Given the description of an element on the screen output the (x, y) to click on. 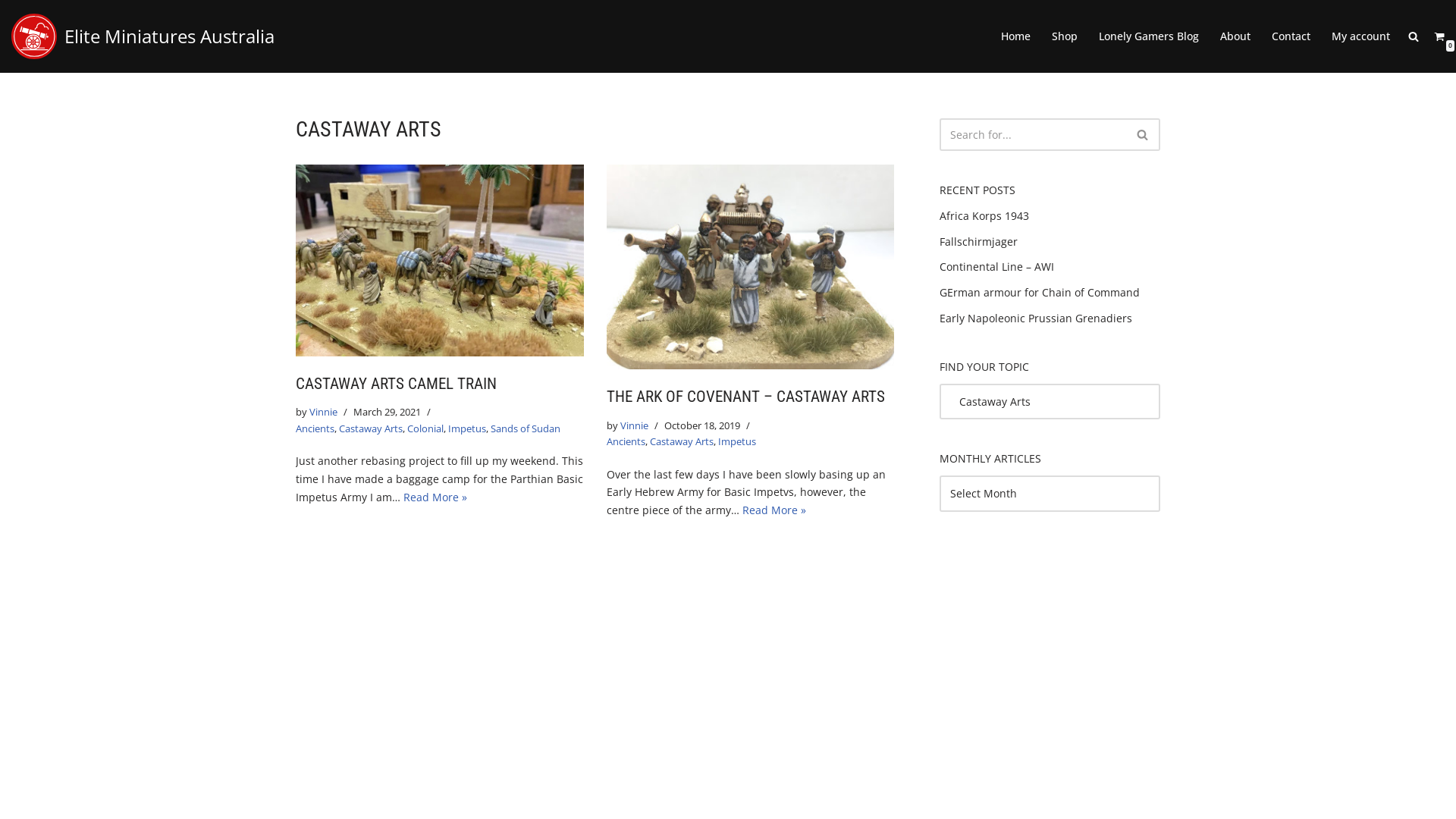
Early Napoleonic Prussian Grenadiers Element type: text (1035, 317)
Impetus Element type: text (736, 441)
Castaway Arts Camel Train Element type: hover (439, 260)
CASTAWAY ARTS CAMEL TRAIN Element type: text (395, 383)
Sands of Sudan Element type: text (525, 428)
Home Element type: text (1015, 36)
Contact Element type: text (1290, 36)
Colonial Element type: text (425, 428)
Vinnie Element type: text (634, 425)
Africa Korps 1943 Element type: text (984, 215)
Elite Miniatures Australia Element type: text (142, 36)
About Element type: text (1235, 36)
Castaway Arts Element type: text (680, 441)
My account Element type: text (1360, 36)
Castaway Arts Element type: text (370, 428)
Shop Element type: text (1064, 36)
Vinnie Element type: text (323, 411)
Skip to content Element type: text (11, 31)
Lonely Gamers Blog Element type: text (1148, 36)
Ancients Element type: text (625, 441)
0 Element type: text (1439, 36)
Fallschirmjager Element type: text (978, 241)
Impetus Element type: text (467, 428)
GErman armour for Chain of Command Element type: text (1039, 292)
Ancients Element type: text (314, 428)
